Given the description of an element on the screen output the (x, y) to click on. 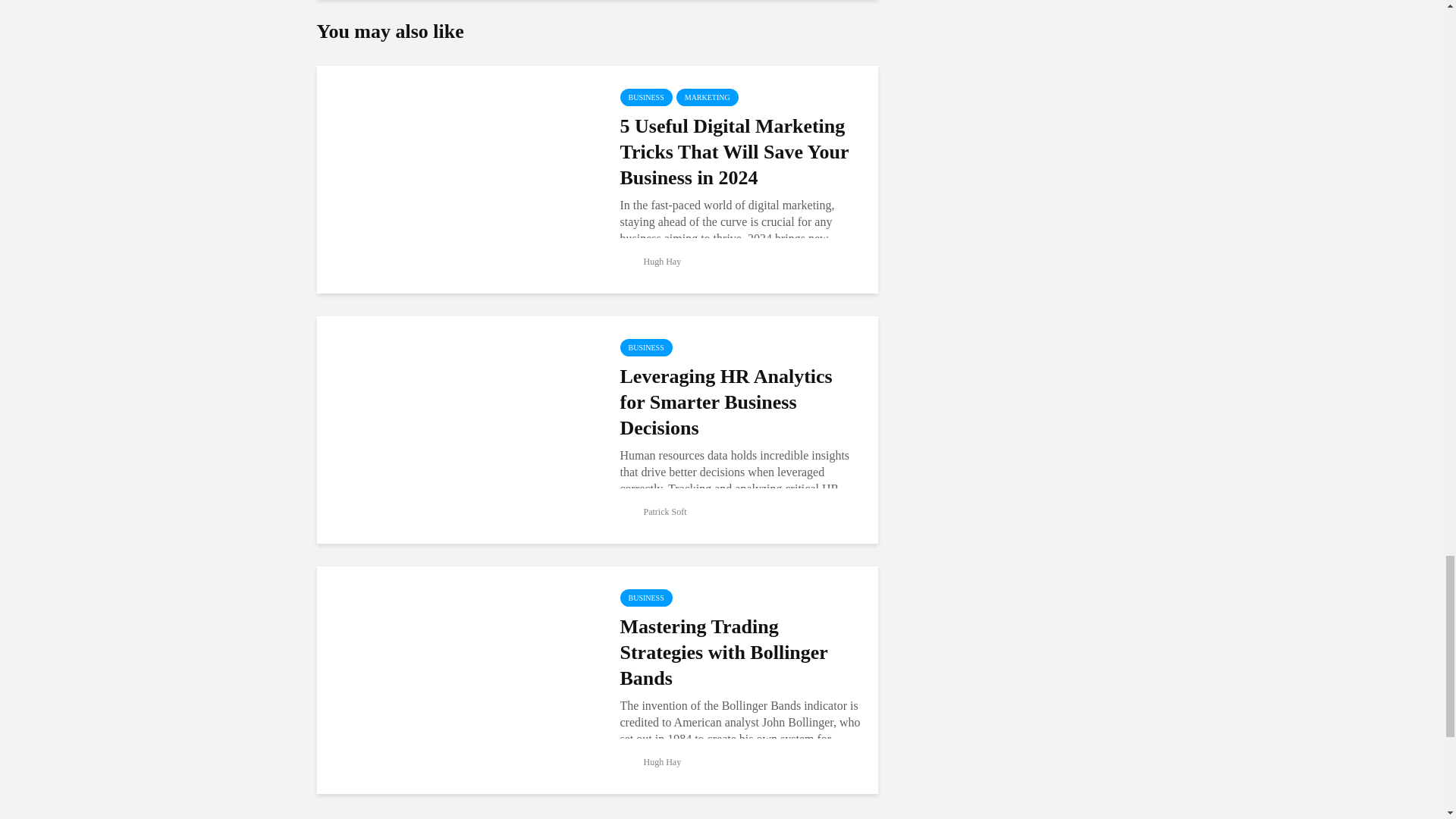
Mastering Trading Strategies with Bollinger Bands (456, 678)
BUSINESS (646, 97)
